Given the description of an element on the screen output the (x, y) to click on. 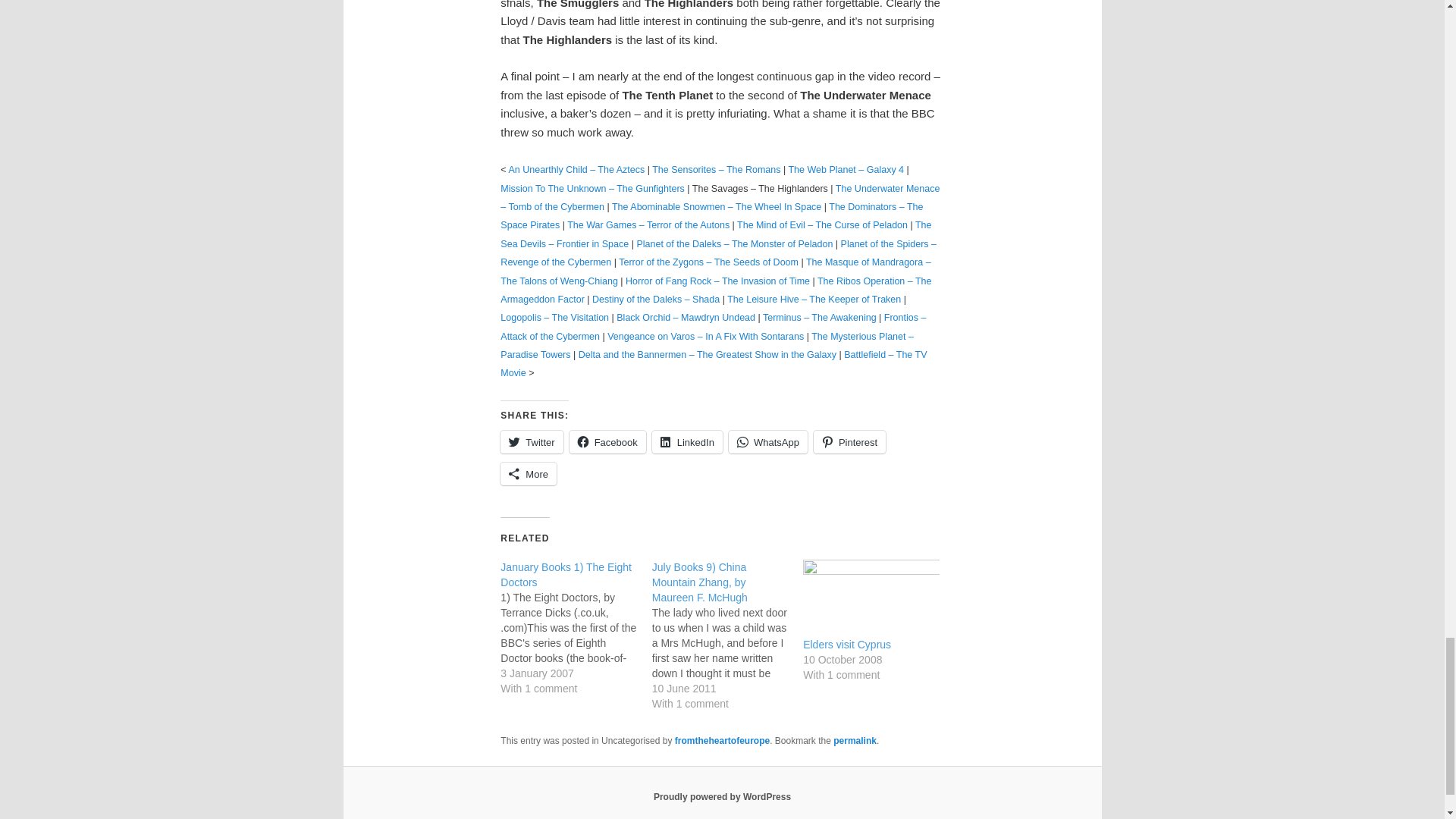
Click to share on Twitter (531, 441)
Click to share on Pinterest (849, 441)
Click to share on LinkedIn (687, 441)
Click to share on WhatsApp (768, 441)
Elders visit Cyprus (847, 644)
Elders visit Cyprus (871, 598)
Semantic Personal Publishing Platform (721, 796)
Click to share on Facebook (607, 441)
